Given the description of an element on the screen output the (x, y) to click on. 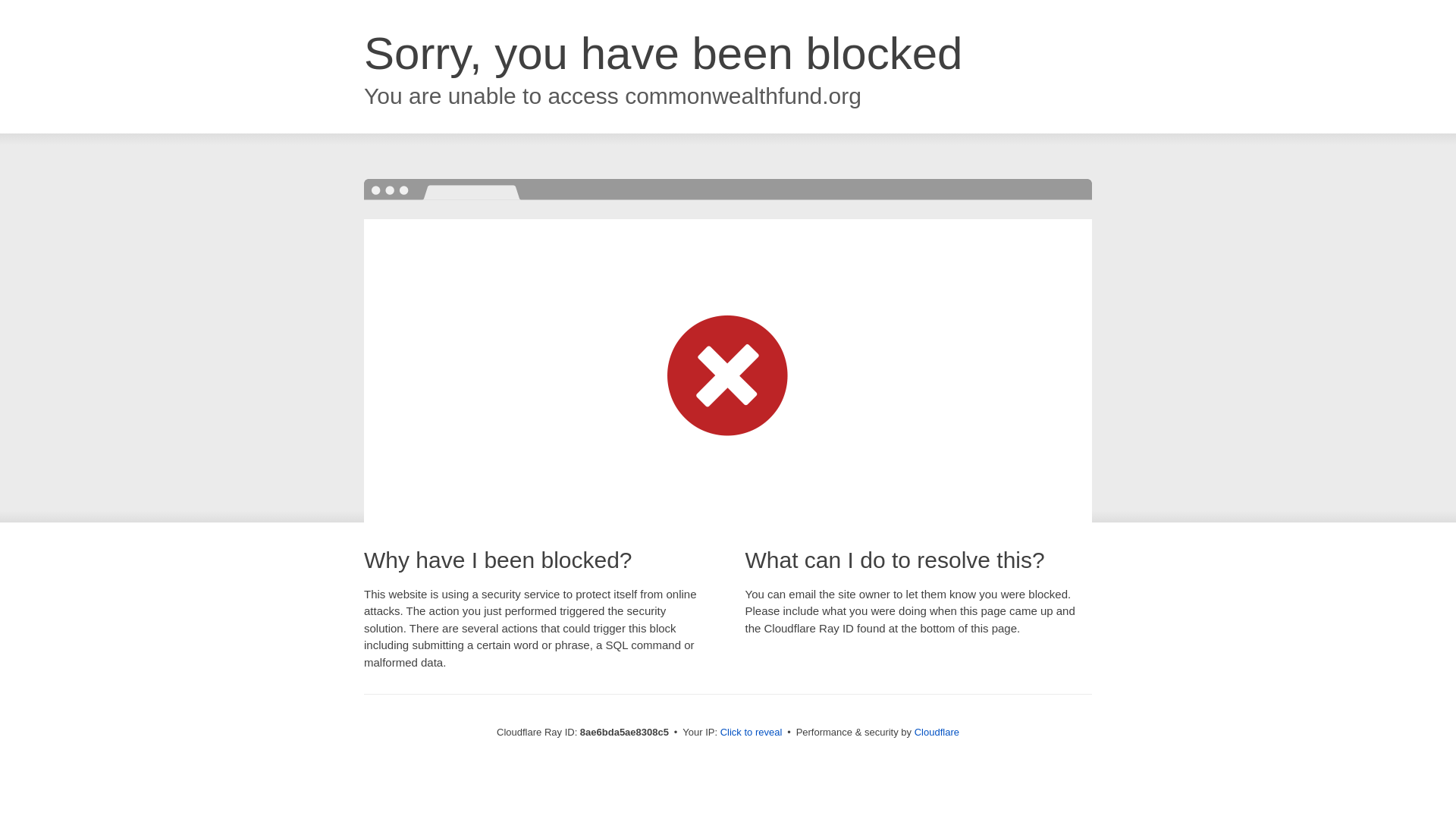
Cloudflare (936, 731)
Click to reveal (751, 732)
